Given the description of an element on the screen output the (x, y) to click on. 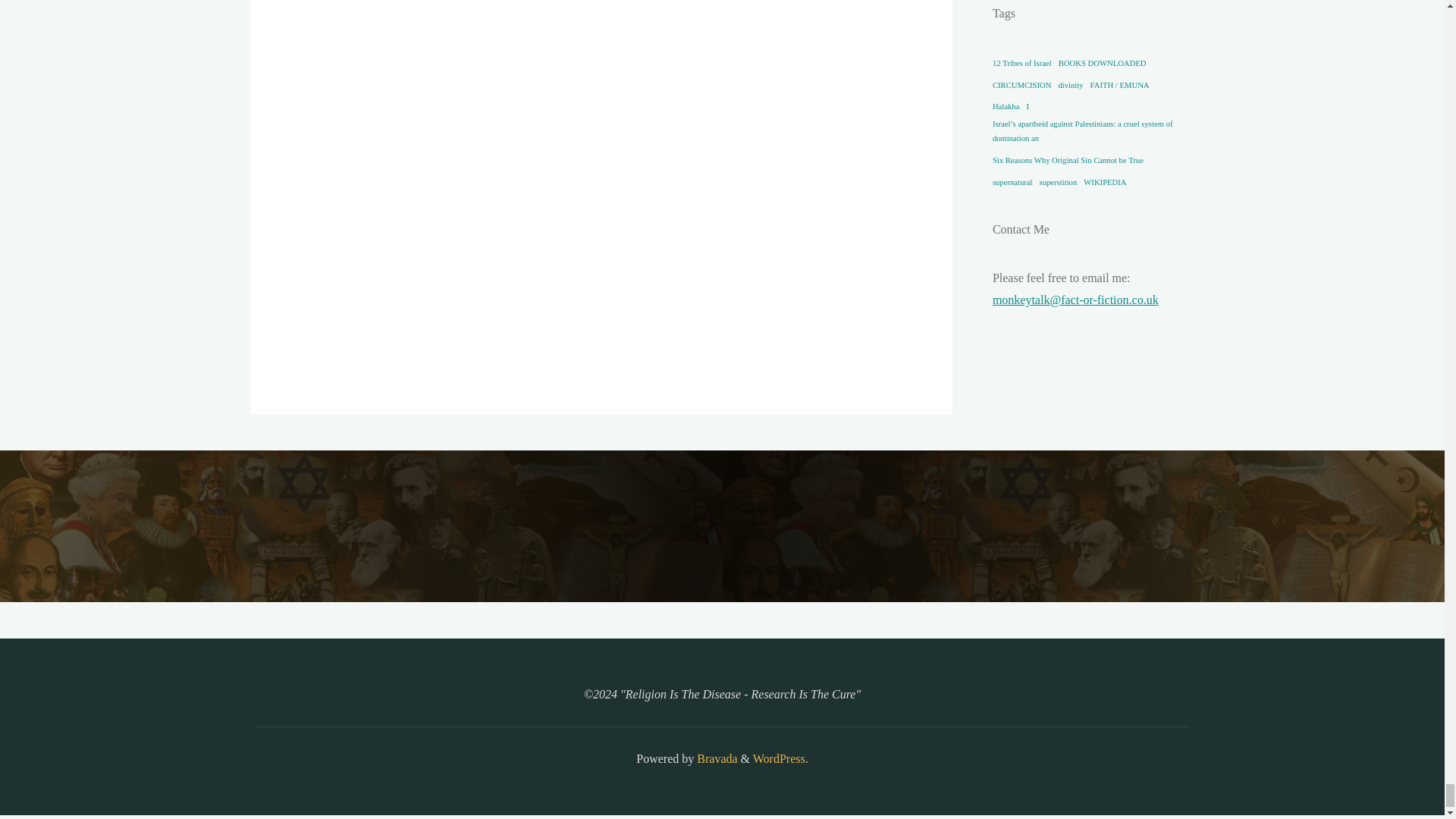
Semantic Personal Publishing Platform (778, 757)
Bravada WordPress Theme by Cryout Creations (715, 757)
